Given the description of an element on the screen output the (x, y) to click on. 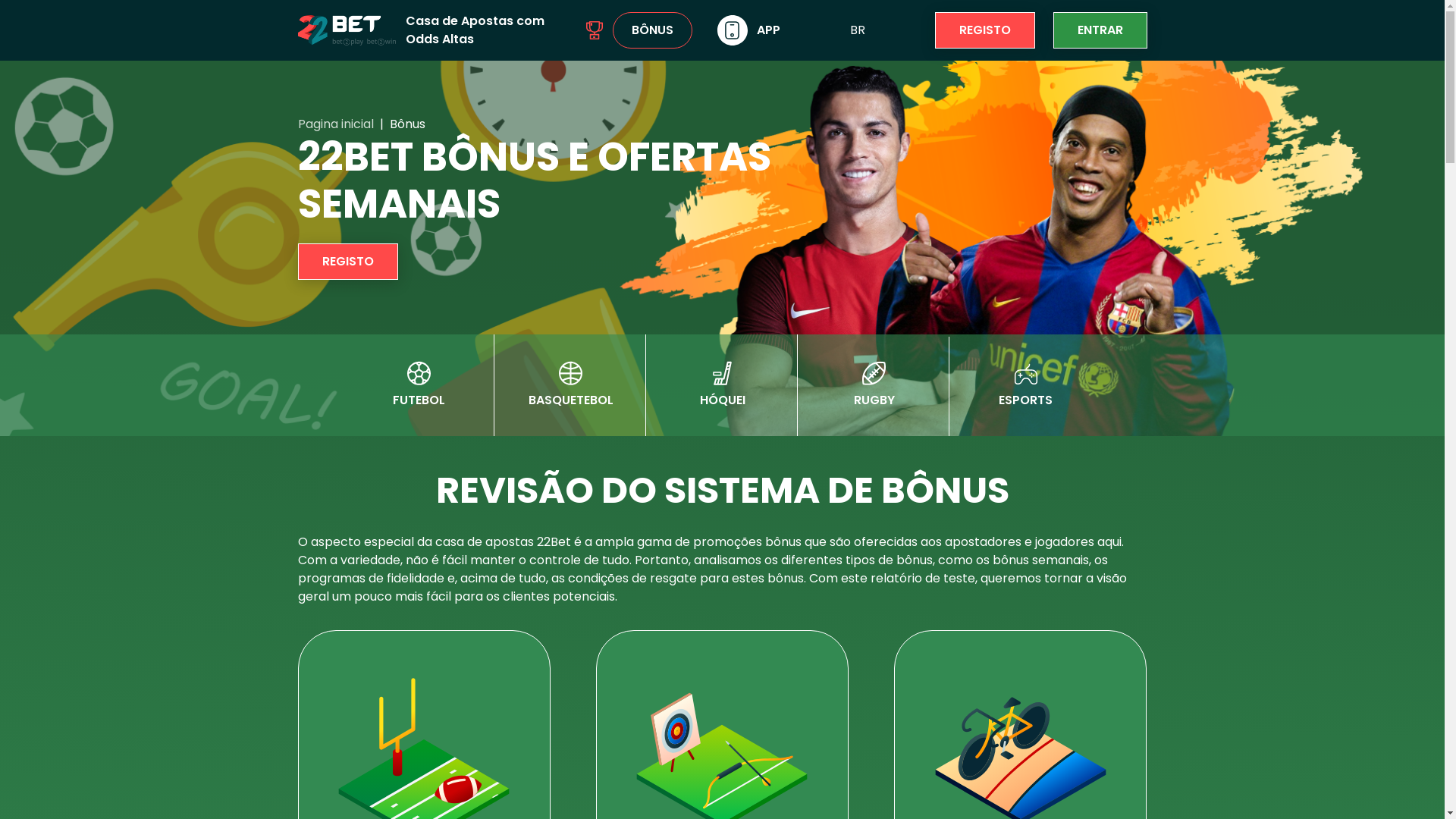
RUGBY Element type: text (873, 385)
App Element type: hover (732, 30)
BR Element type: text (856, 30)
ESPORTS Element type: text (1024, 386)
Pagina inicial Element type: text (335, 124)
22Bet Portugal Element type: hover (346, 30)
Futebol Element type: hover (418, 372)
REGISTO Element type: text (347, 261)
FUTEBOL Element type: text (418, 385)
Basquetebol Element type: hover (570, 372)
BASQUETEBOL Element type: text (569, 385)
ENTRAR Element type: text (1099, 30)
Bonus Element type: hover (594, 30)
Rugby Element type: hover (873, 372)
REGISTO Element type: text (984, 30)
eSports Element type: hover (1025, 374)
APP Element type: text (748, 30)
